Given the description of an element on the screen output the (x, y) to click on. 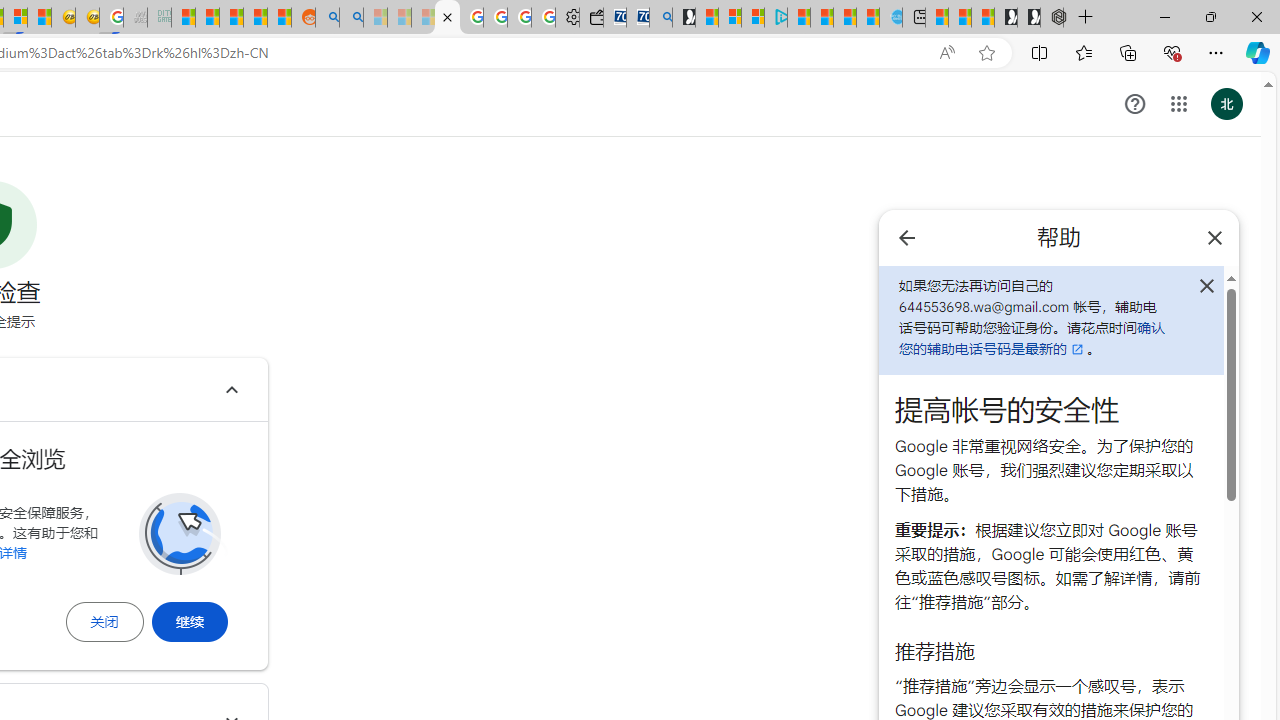
Class: gb_E (1178, 103)
